Given the description of an element on the screen output the (x, y) to click on. 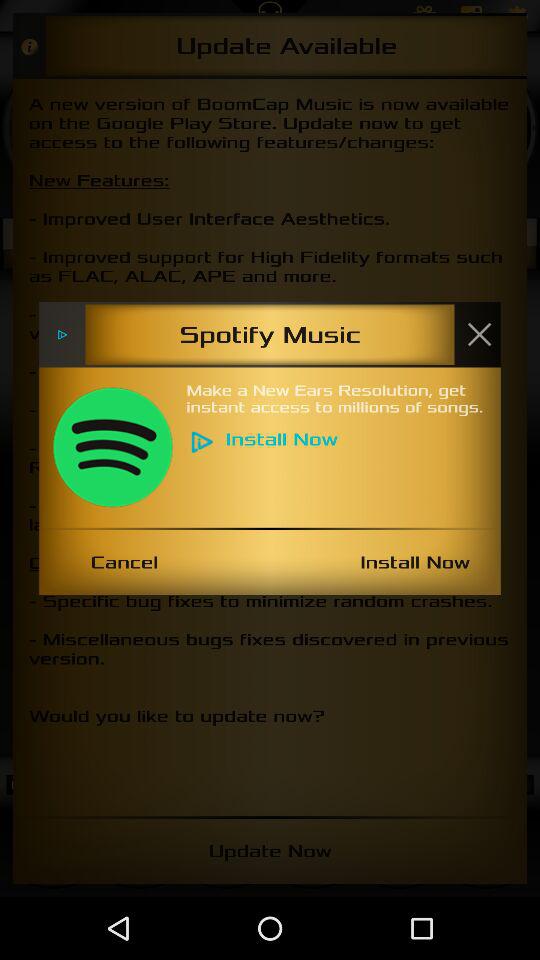
x (479, 334)
